Given the description of an element on the screen output the (x, y) to click on. 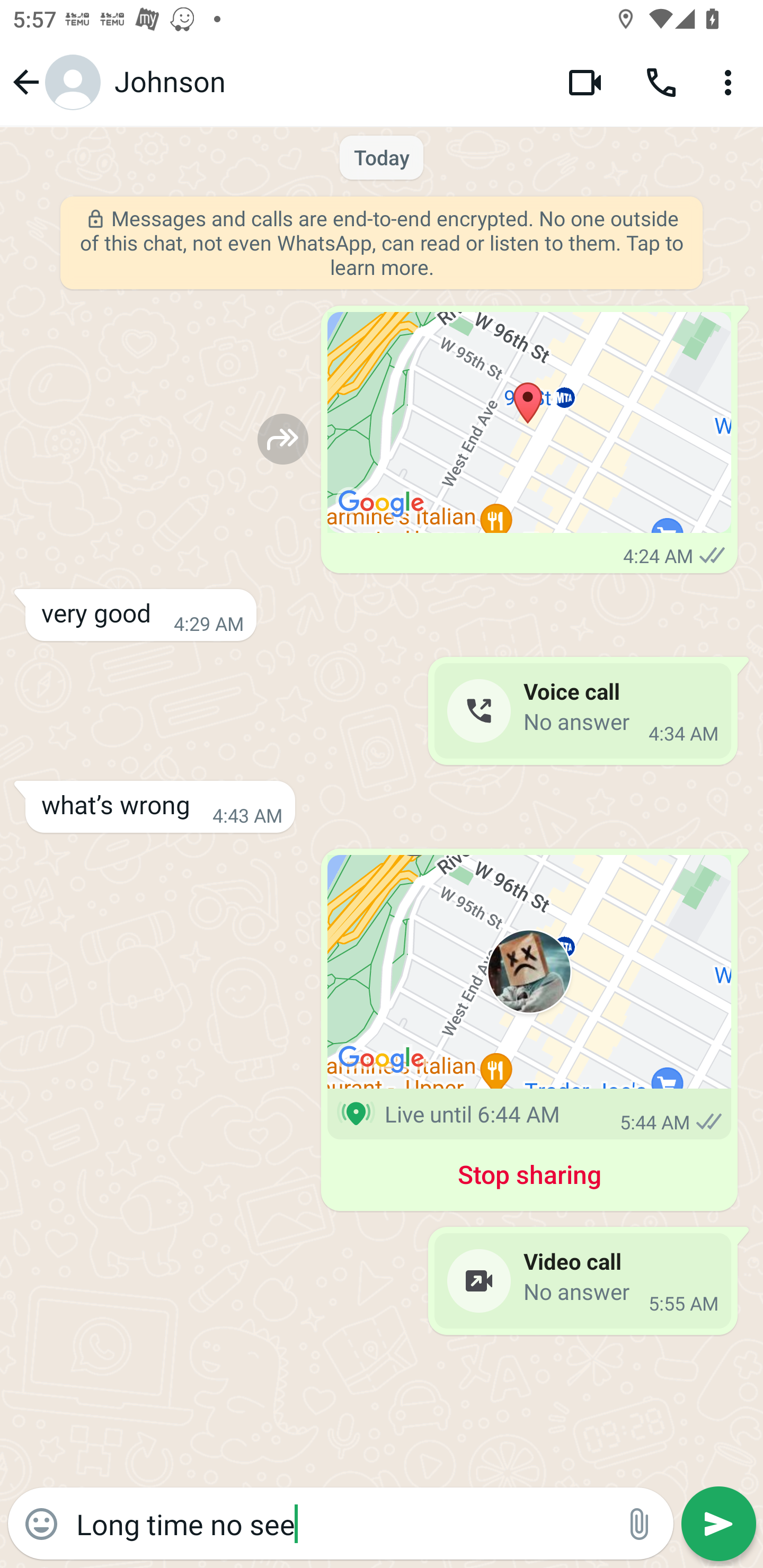
Johnson (327, 82)
Navigate up (54, 82)
Video call (585, 81)
Voice call (661, 81)
More options (731, 81)
Location (528, 422)
Forward to… (282, 438)
Live location (528, 971)
Stop sharing (529, 1178)
Emoji (41, 1523)
Attach (640, 1523)
Send (718, 1523)
Long time no see (340, 1523)
